Given the description of an element on the screen output the (x, y) to click on. 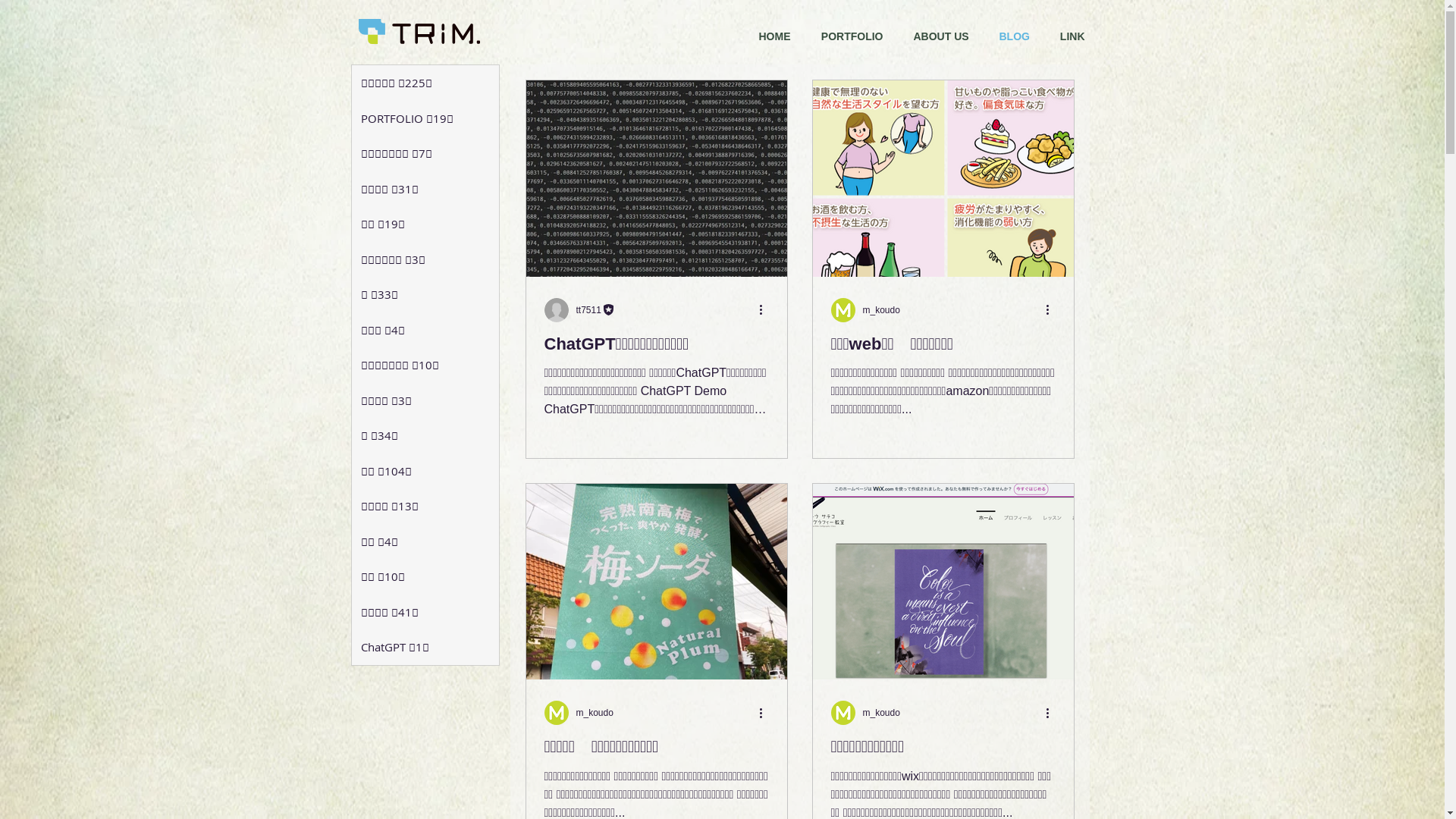
ABOUT US Element type: text (940, 35)
BLOG Element type: text (1014, 35)
LINK Element type: text (1072, 35)
HOME Element type: text (774, 35)
PORTFOLIO Element type: text (851, 35)
